Given the description of an element on the screen output the (x, y) to click on. 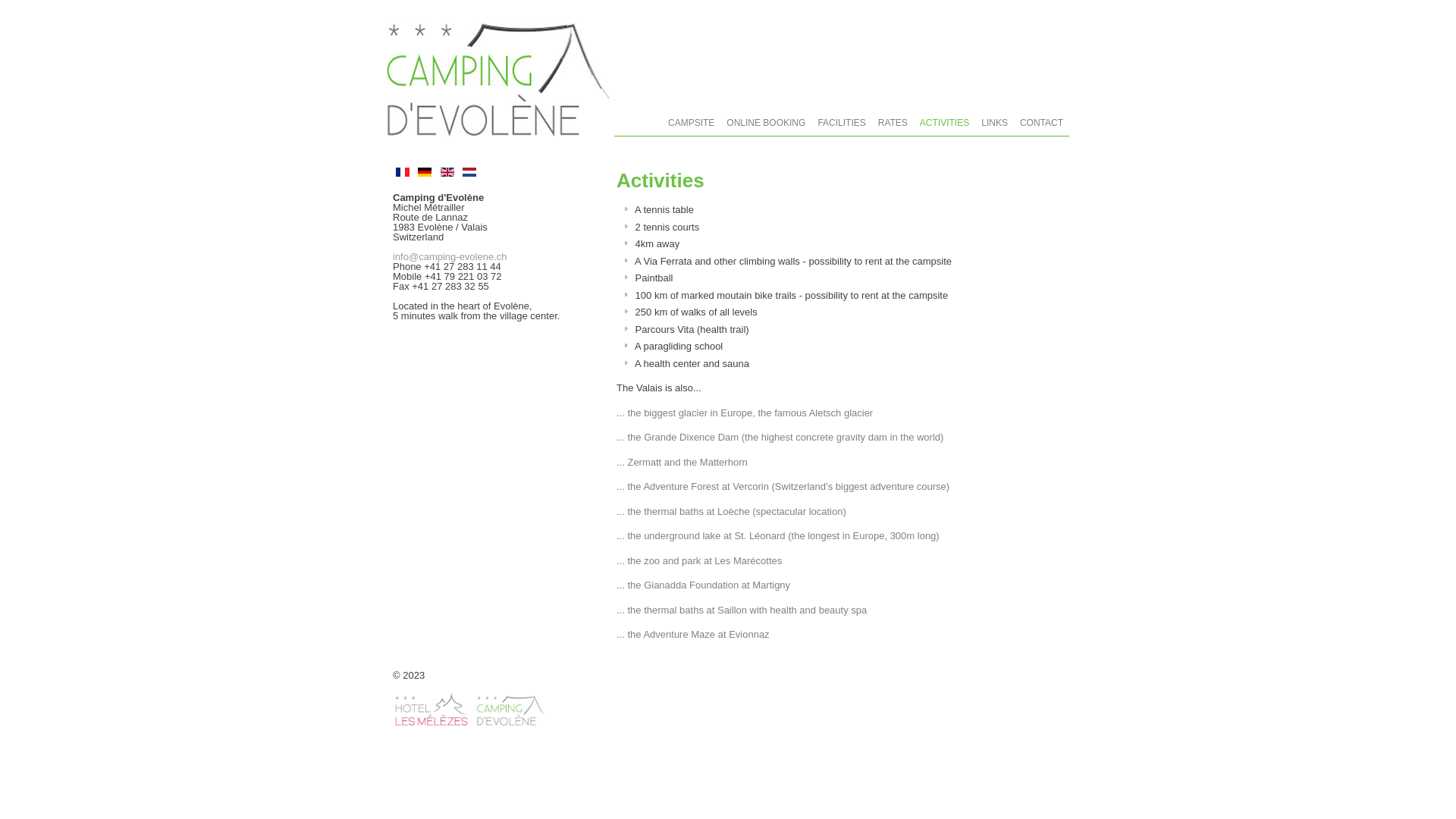
CAMPSITE Element type: text (691, 122)
... the Adventure Maze at Evionnaz Element type: text (692, 634)
English (UK) Element type: hover (447, 171)
Deutsch Element type: hover (424, 171)
ONLINE BOOKING Element type: text (765, 122)
... the thermal baths at Saillon with health and beauty spa Element type: text (741, 609)
ACTIVITIES Element type: text (944, 122)
FACILITIES Element type: text (841, 122)
Nederlands Element type: hover (469, 171)
... Zermatt and the Matterhorn Element type: text (681, 461)
... the Gianadda Foundation at Martigny Element type: text (703, 584)
CONTACT Element type: text (1041, 122)
info@camping-evolene.ch Element type: text (449, 256)
RATES Element type: text (892, 122)
LINKS Element type: text (994, 122)
